Given the description of an element on the screen output the (x, y) to click on. 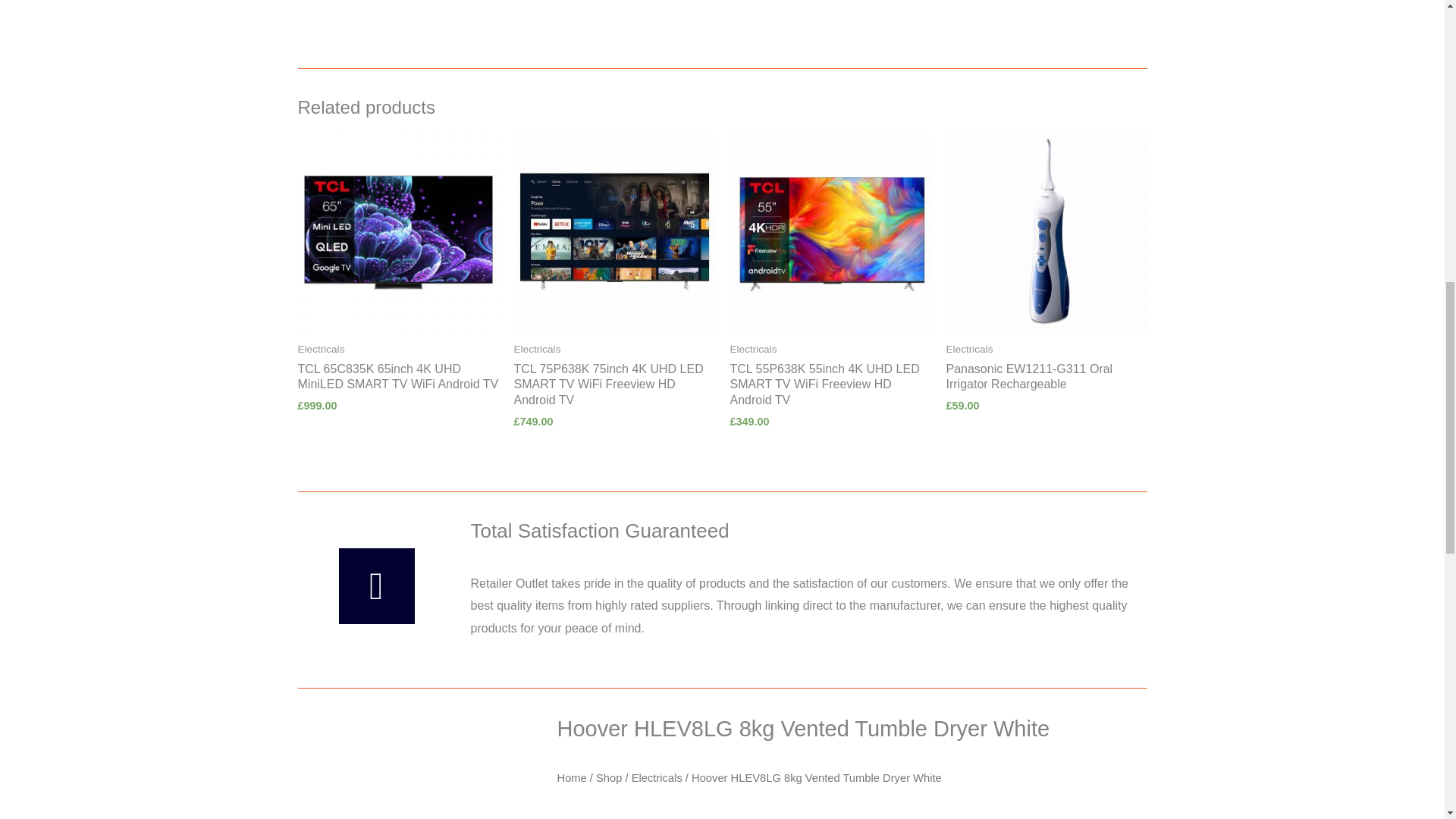
Panasonic EW1211-G311 Oral Irrigator Rechargeable (1046, 377)
Add to cart (721, 8)
TCL 65C835K 65inch 4K UHD MiniLED SMART TV WiFi Android TV (397, 377)
